Given the description of an element on the screen output the (x, y) to click on. 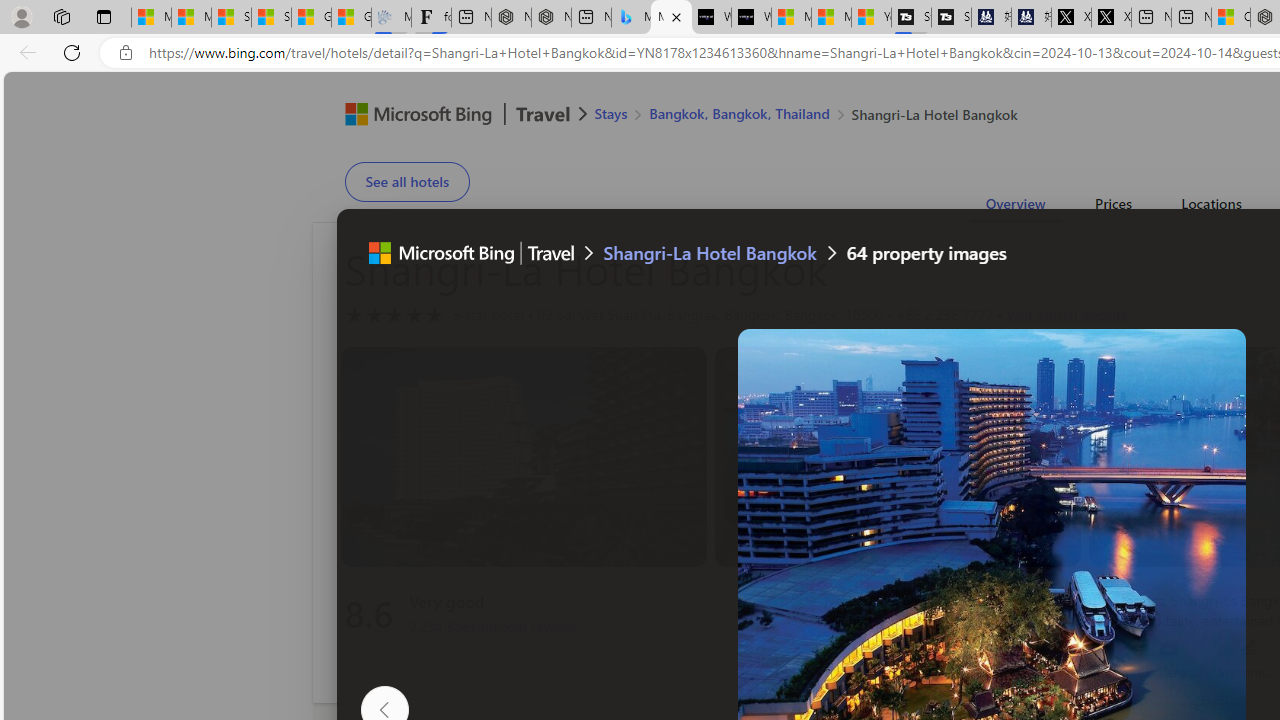
Microsoft Bing Travel - Shangri-La Hotel Bangkok (671, 17)
Microsoft Bing Travel - Stays in Bangkok, Bangkok, Thailand (631, 17)
Gilma and Hector both pose tropical trouble for Hawaii (351, 17)
